Given the description of an element on the screen output the (x, y) to click on. 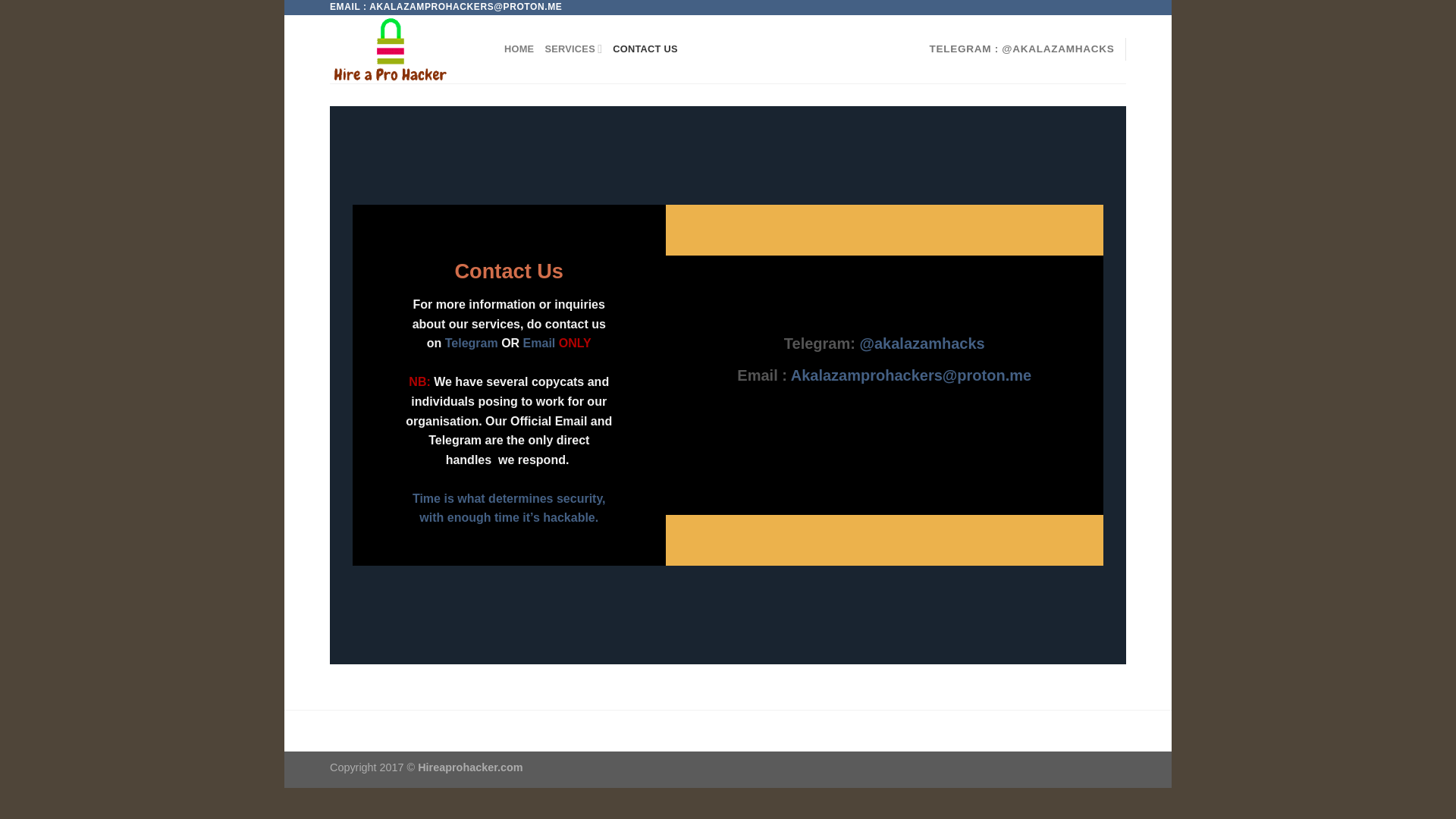
CONTACT US (645, 49)
HOME (518, 49)
SERVICES (573, 49)
